Given the description of an element on the screen output the (x, y) to click on. 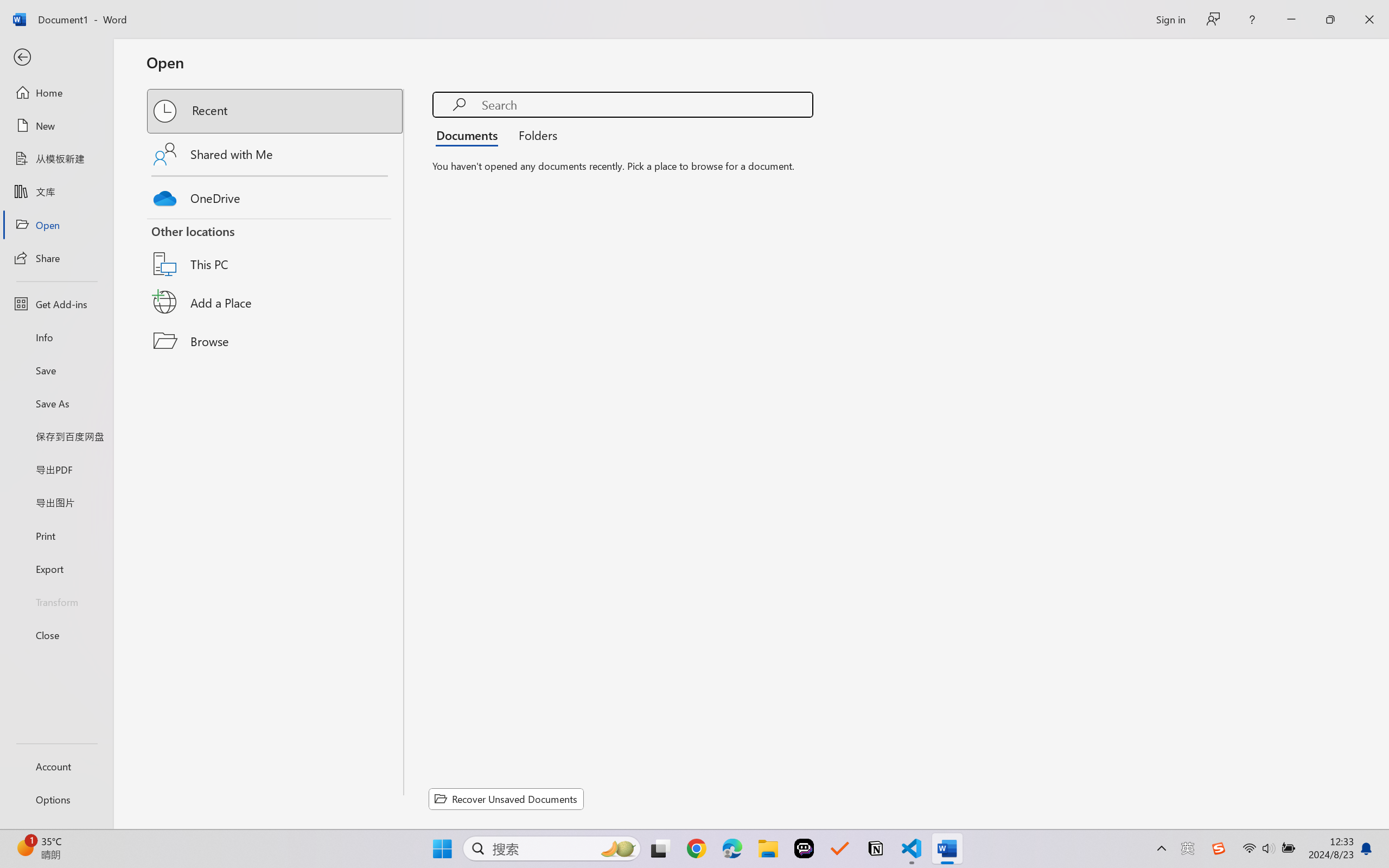
Documents (469, 134)
Account (56, 765)
OneDrive (275, 195)
Info (56, 337)
Save As (56, 403)
This PC (275, 249)
